Given the description of an element on the screen output the (x, y) to click on. 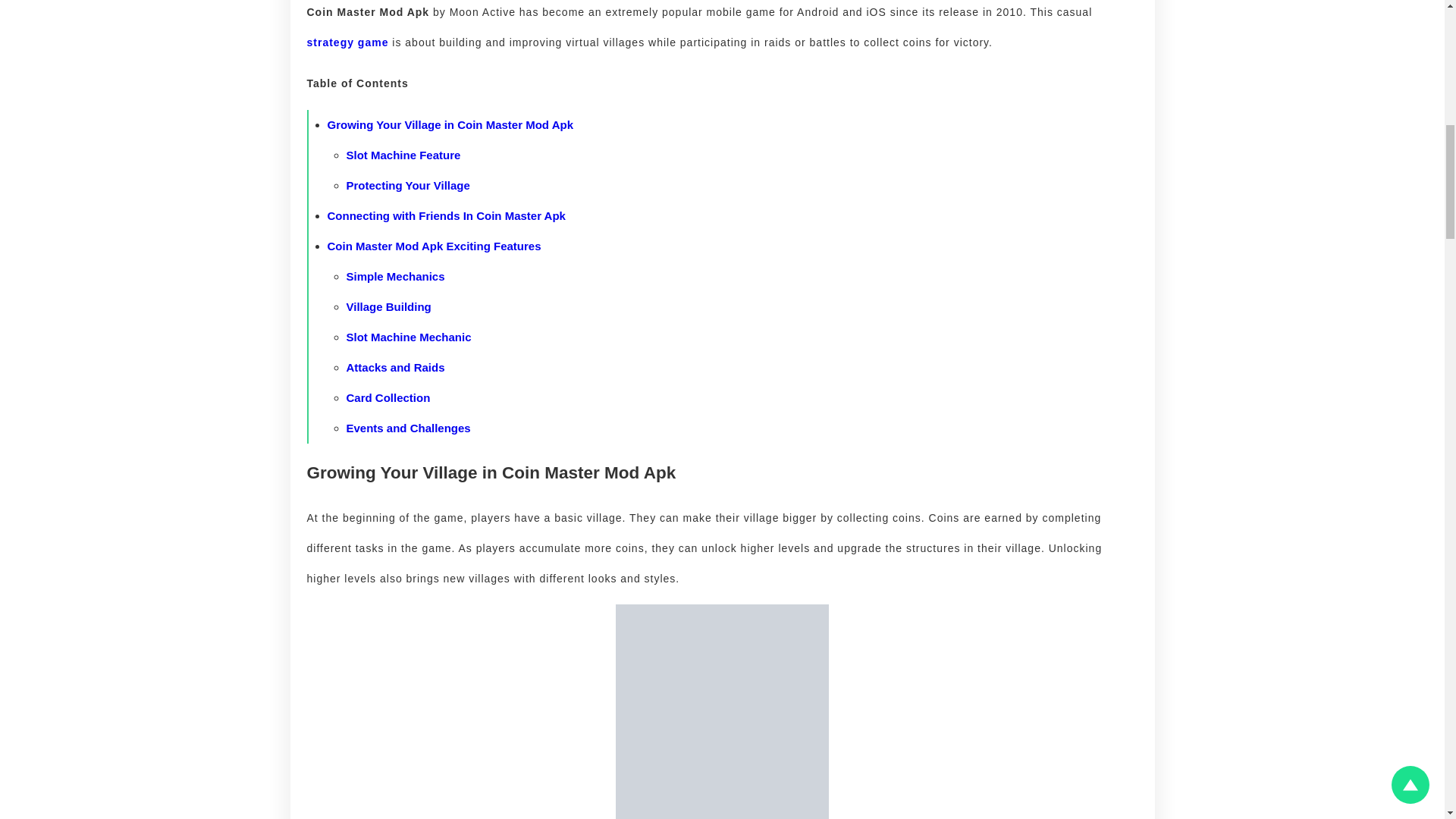
Coin Master Mod Apk Exciting Features (434, 245)
Slot Machine Mechanic (408, 336)
Growing Your Village in Coin Master Mod Apk (450, 124)
Simple Mechanics (395, 276)
Village Building (388, 306)
Slot Machine Feature (403, 154)
Connecting with Friends In Coin Master Apk (446, 215)
Events and Challenges (408, 427)
Attacks and Raids (395, 367)
strategy game (346, 42)
Card Collection (387, 397)
Protecting Your Village (407, 185)
